Given the description of an element on the screen output the (x, y) to click on. 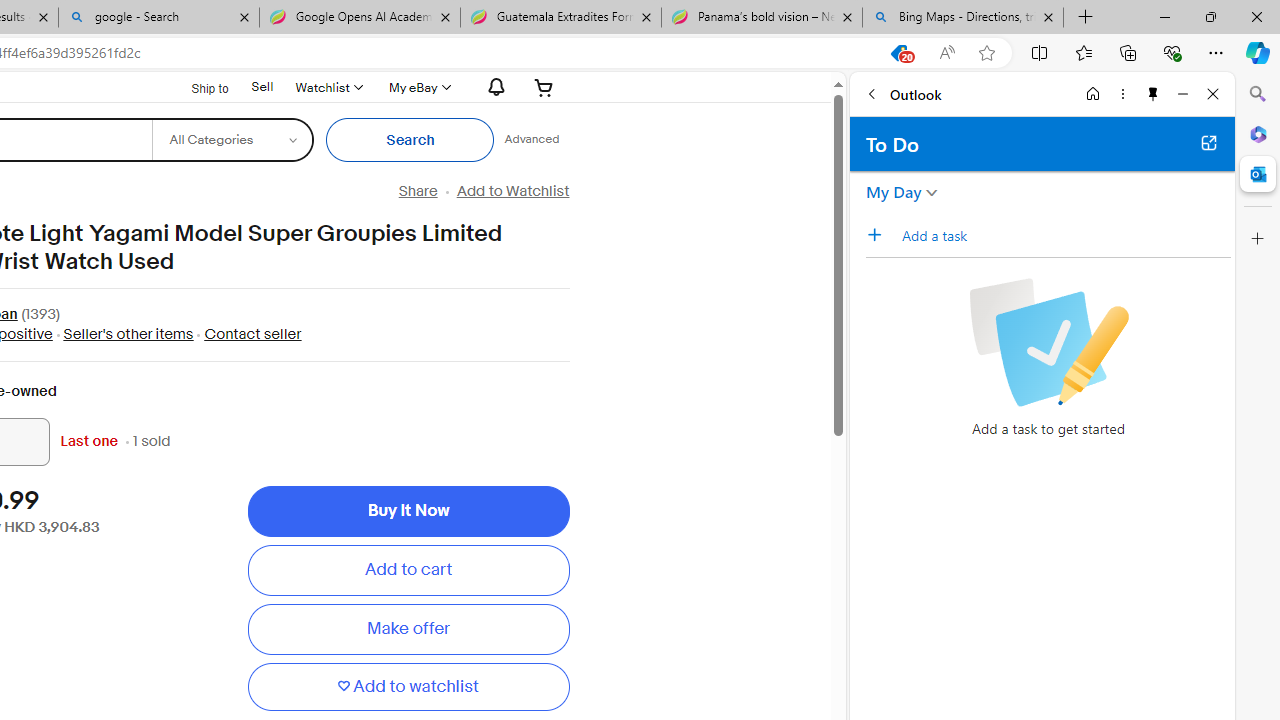
  Seller's other items (123, 334)
Add to Watchlist (512, 191)
Add to cart (408, 570)
Advanced Search (531, 139)
Add to watchlist (408, 686)
Buy It Now (408, 511)
Share (417, 191)
